Given the description of an element on the screen output the (x, y) to click on. 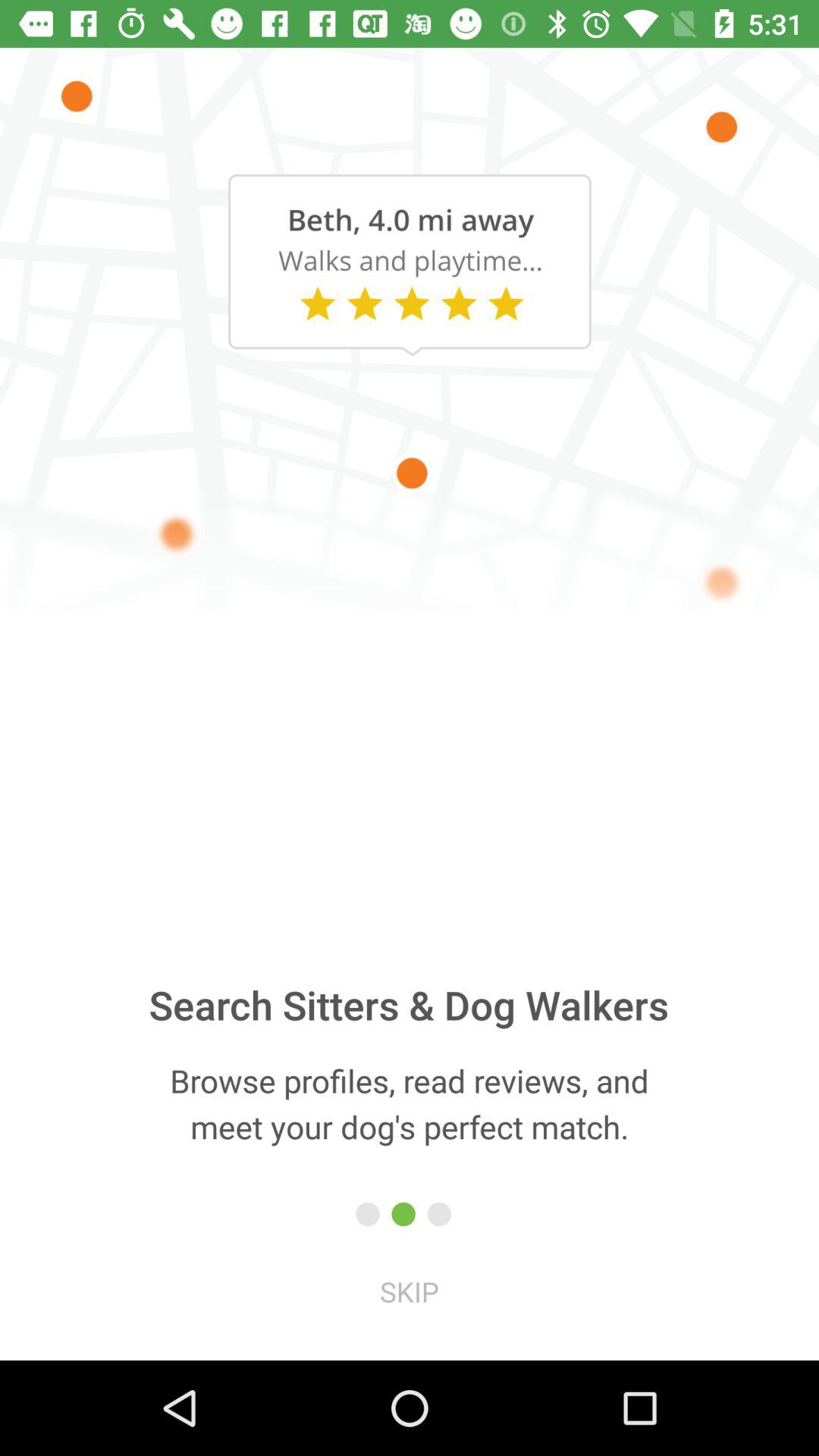
turn on the icon below the browse profiles read icon (409, 1291)
